Given the description of an element on the screen output the (x, y) to click on. 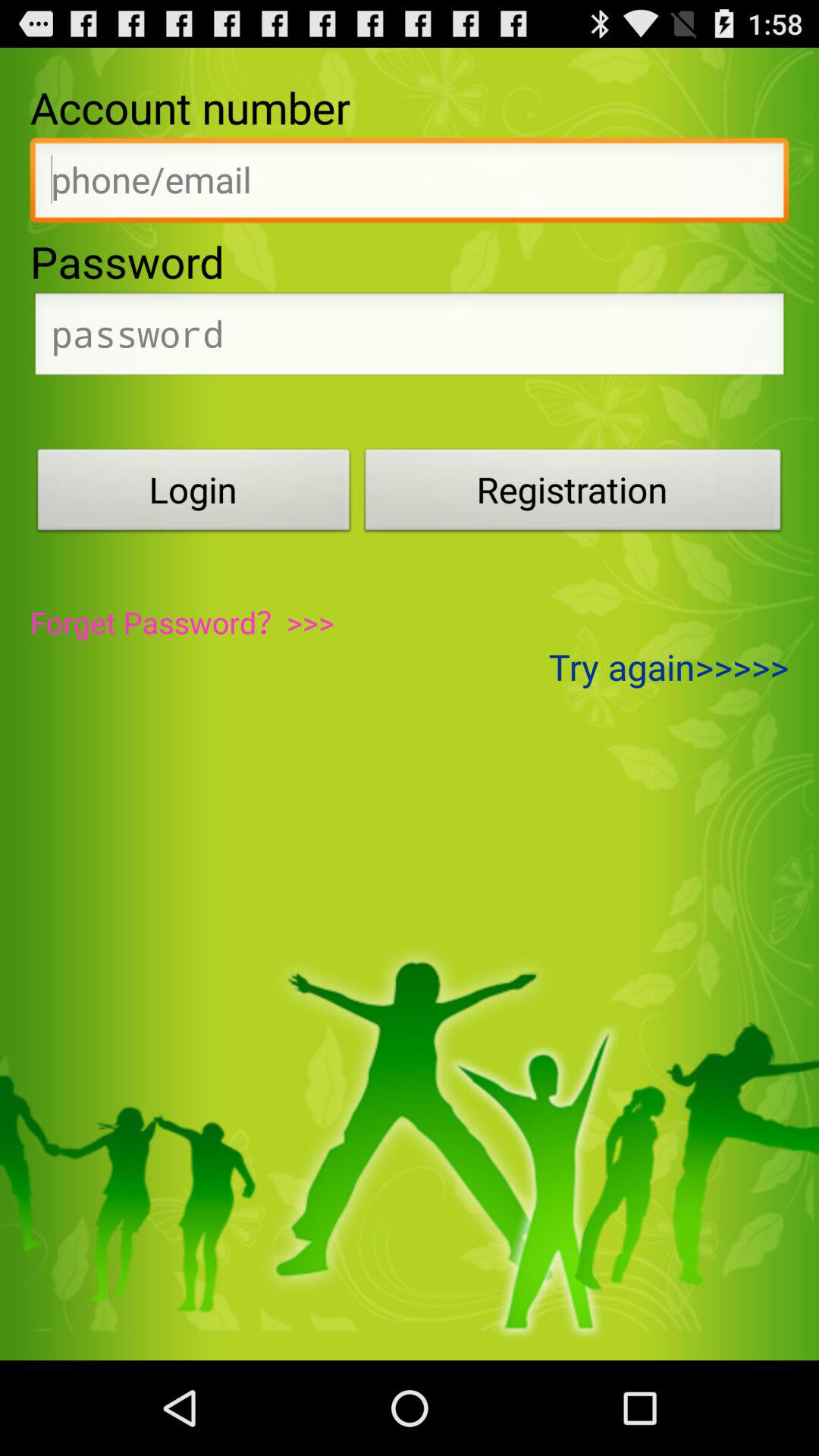
open try again>>>>> app (668, 666)
